Given the description of an element on the screen output the (x, y) to click on. 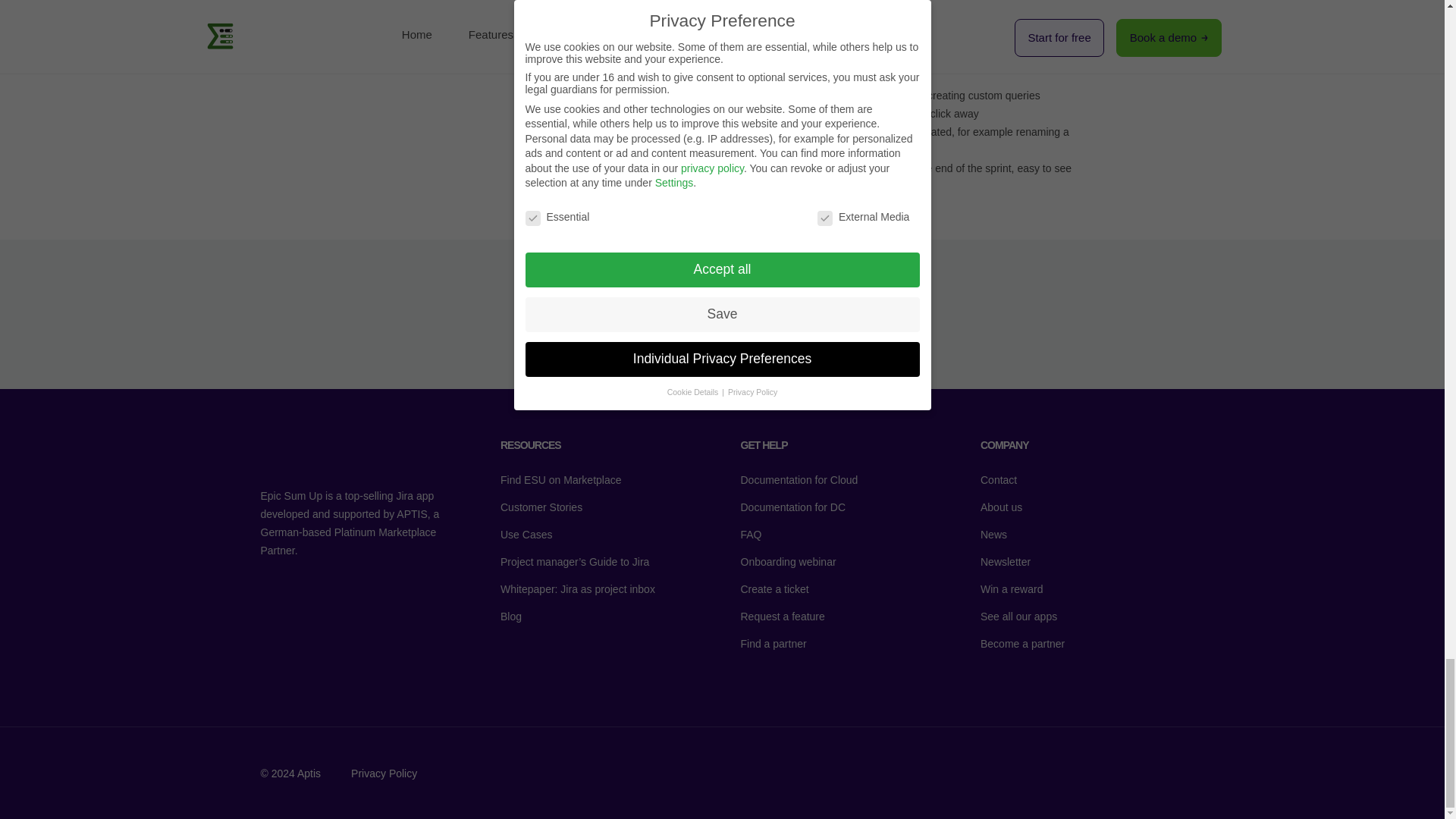
APTIS (411, 513)
BOOK A DEMO (722, 314)
Find ESU on Marketplace (577, 479)
